Given the description of an element on the screen output the (x, y) to click on. 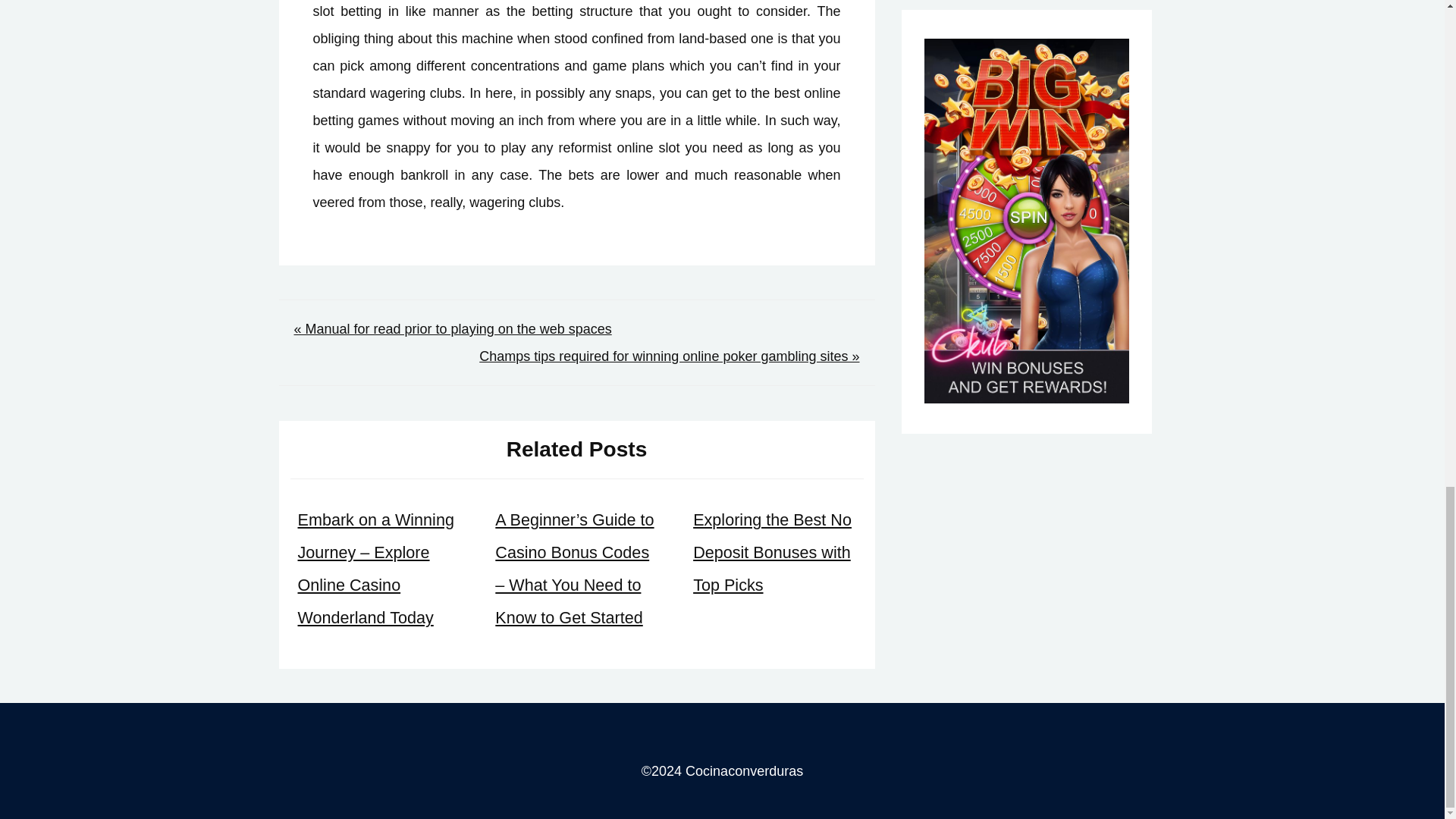
Exploring the Best No Deposit Bonuses with Top Picks (772, 552)
